Given the description of an element on the screen output the (x, y) to click on. 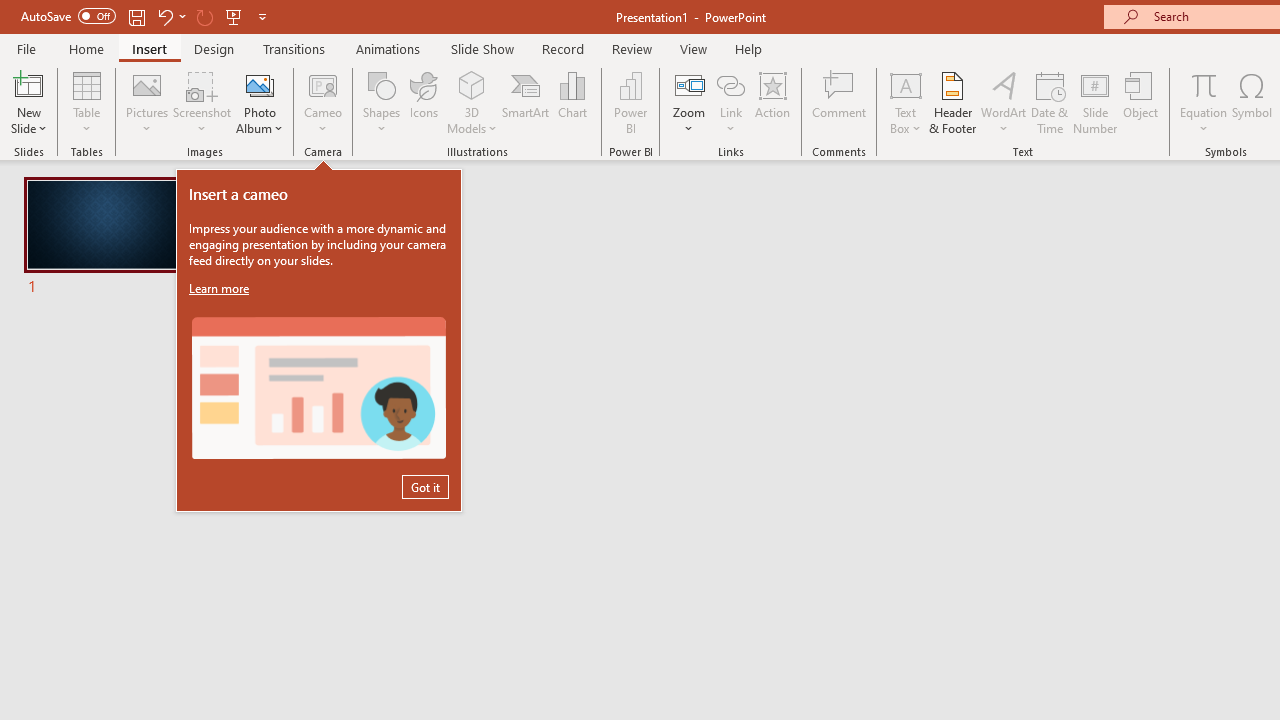
Object... (1141, 102)
Link (731, 84)
Screenshot (202, 102)
Chart... (572, 102)
3D Models (472, 84)
Draw Horizontal Text Box (905, 84)
Learn more (221, 288)
